Given the description of an element on the screen output the (x, y) to click on. 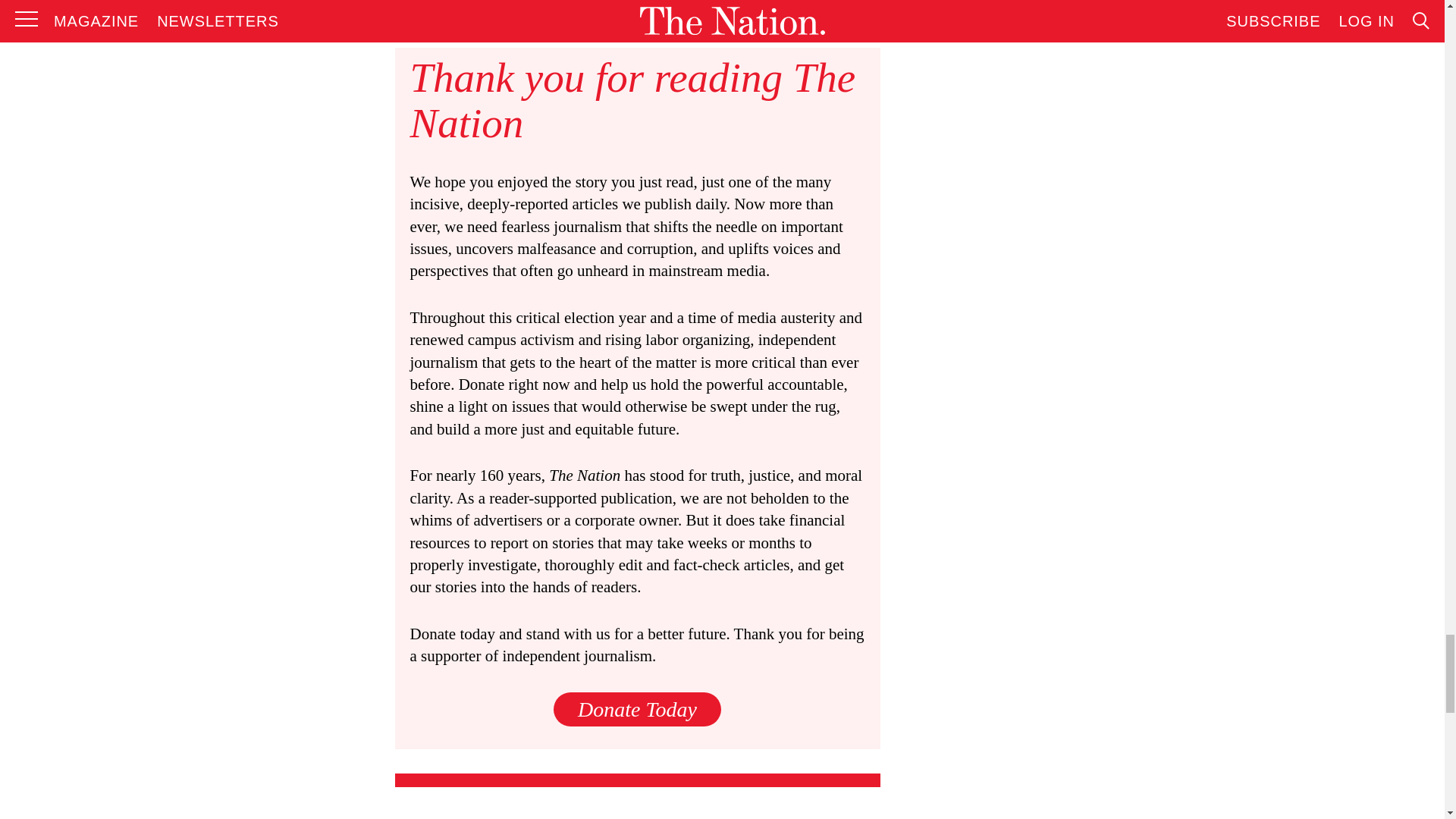
Donate Today (636, 709)
